Given the description of an element on the screen output the (x, y) to click on. 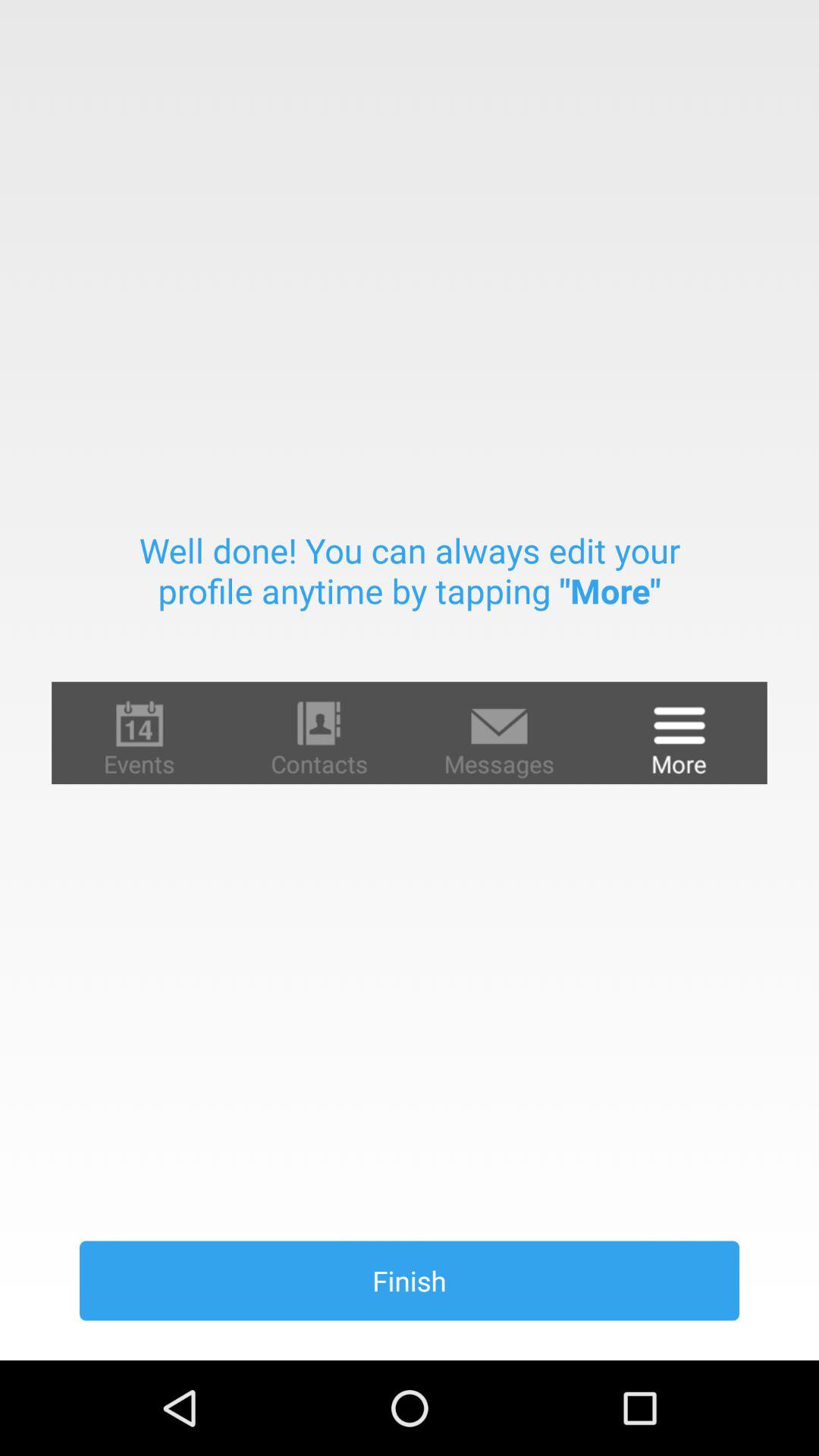
turn off finish at the bottom (409, 1280)
